Given the description of an element on the screen output the (x, y) to click on. 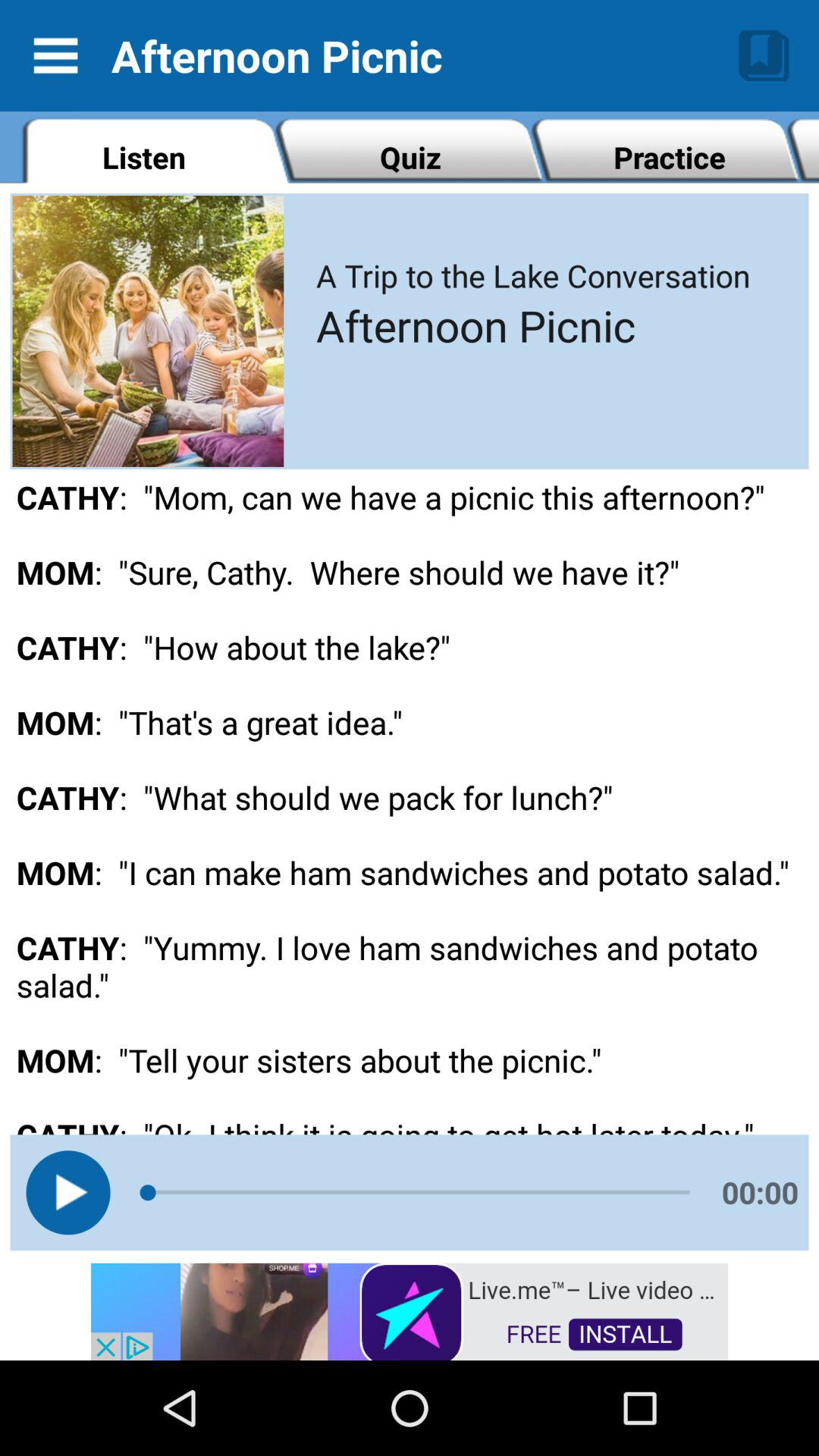
go to advert (409, 1310)
